Given the description of an element on the screen output the (x, y) to click on. 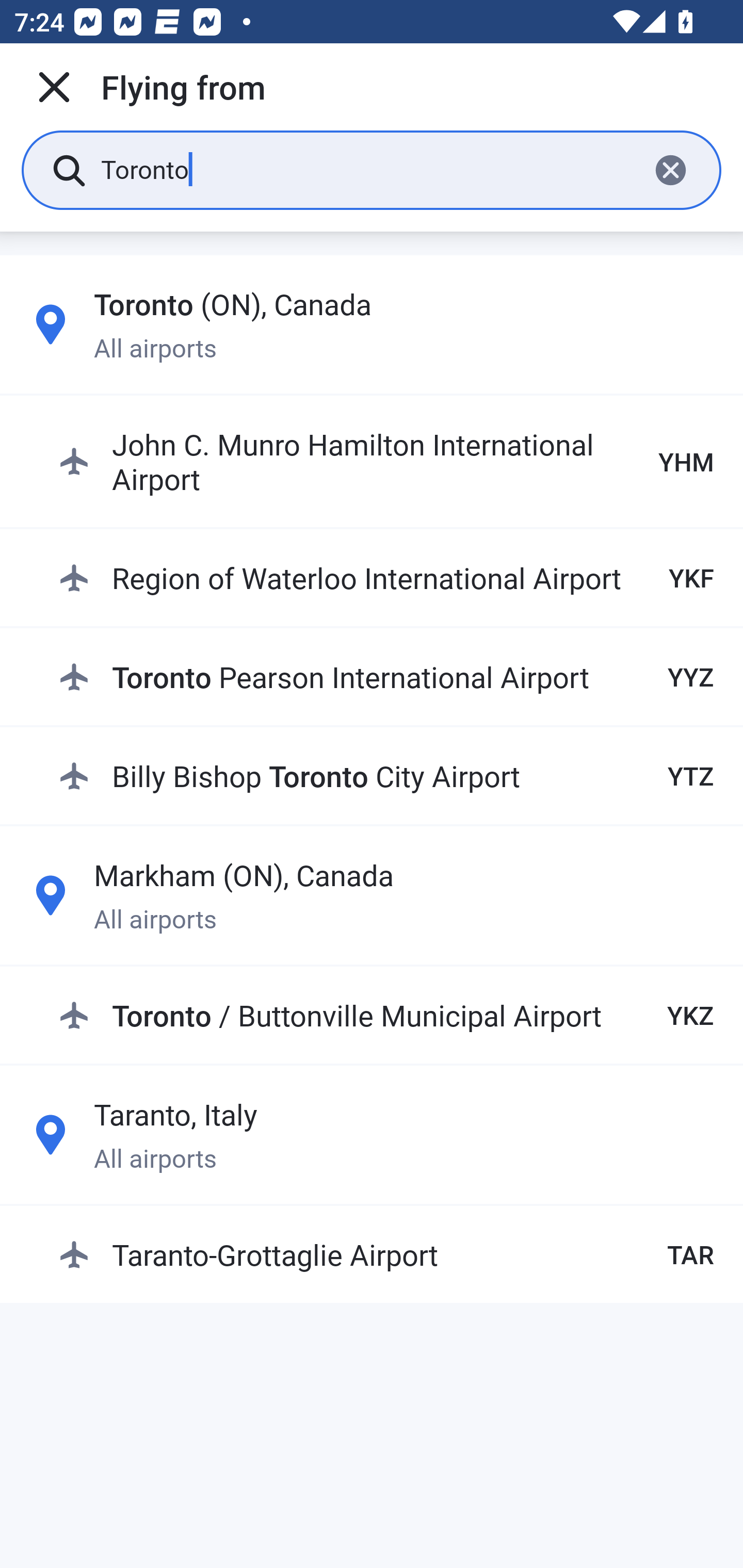
Toronto (367, 169)
Toronto (ON), Canada All airports (371, 324)
John C. Munro Hamilton International Airport YHM (385, 461)
Region of Waterloo International Airport YKF (385, 577)
Toronto Pearson International Airport YYZ (385, 676)
Billy Bishop Toronto City Airport YTZ (385, 775)
Markham (ON), Canada All airports (371, 895)
Toronto / Buttonville Municipal Airport YKZ (385, 1015)
Taranto, Italy All airports (371, 1134)
Taranto-Grottaglie Airport TAR (385, 1254)
